Given the description of an element on the screen output the (x, y) to click on. 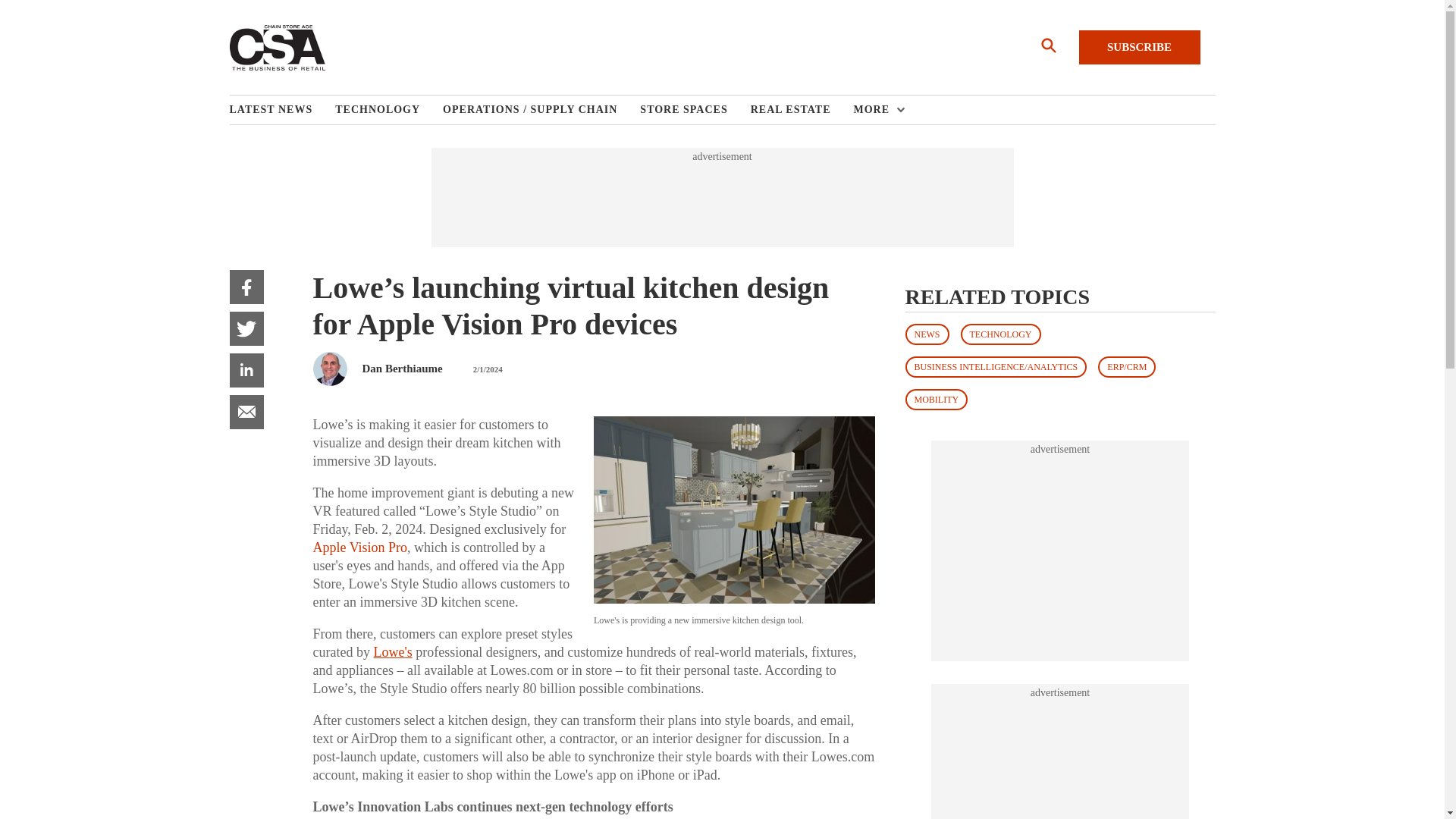
MORE (875, 109)
SUBSCRIBE (1138, 47)
MOBILITY (936, 399)
facebook (245, 286)
3rd party ad content (1059, 551)
linkedIn (245, 369)
facebook (245, 286)
email (245, 411)
Lowe's (392, 652)
linkedIn (245, 369)
NEWS (927, 333)
Apple Vision Pro (360, 547)
3rd party ad content (721, 197)
3rd party ad content (1059, 759)
Dan Berthiaume (402, 368)
